Given the description of an element on the screen output the (x, y) to click on. 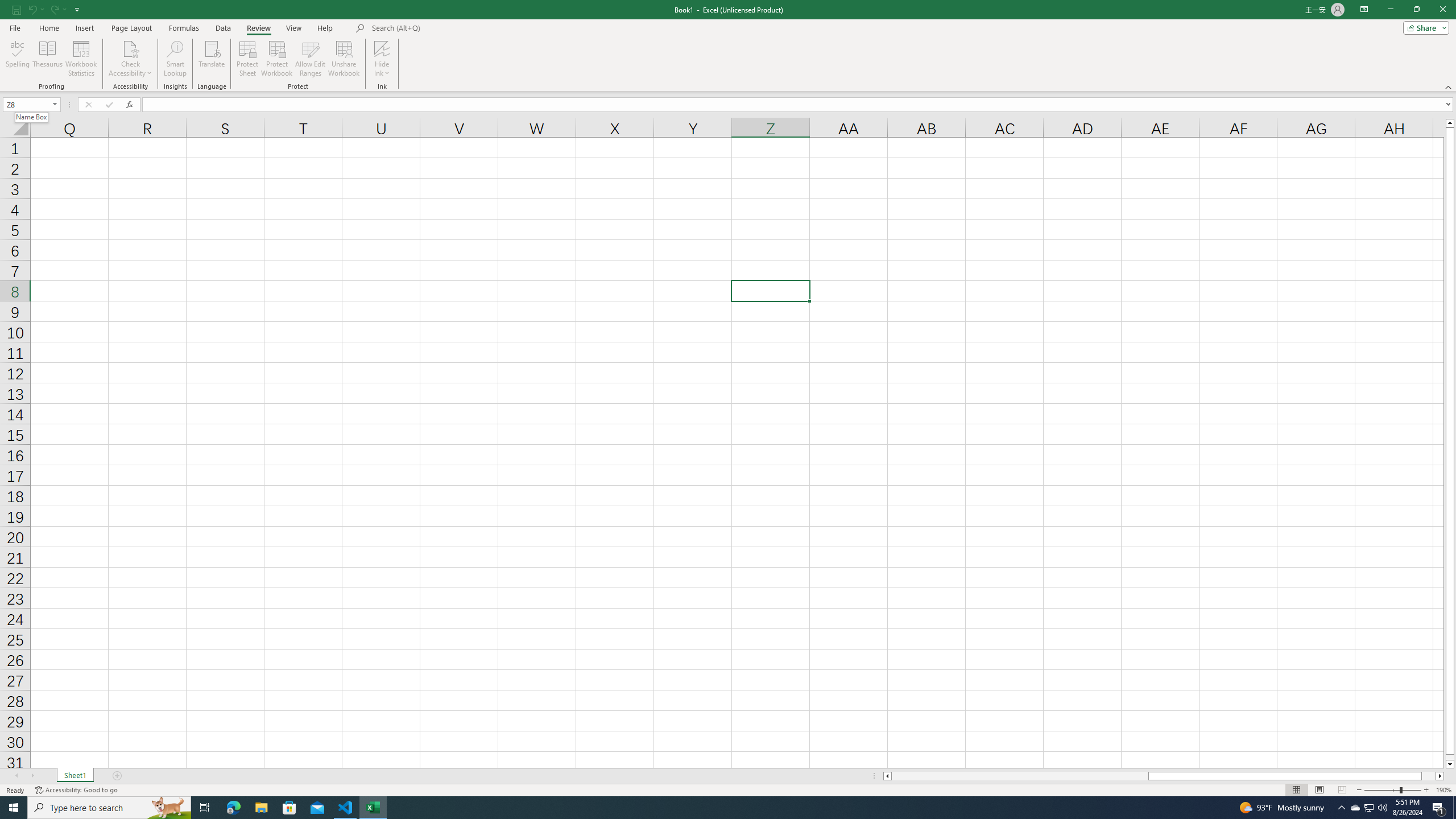
Protect Sheet... (247, 58)
Hide Ink (381, 58)
Spelling... (17, 58)
Unshare Workbook (344, 58)
